Given the description of an element on the screen output the (x, y) to click on. 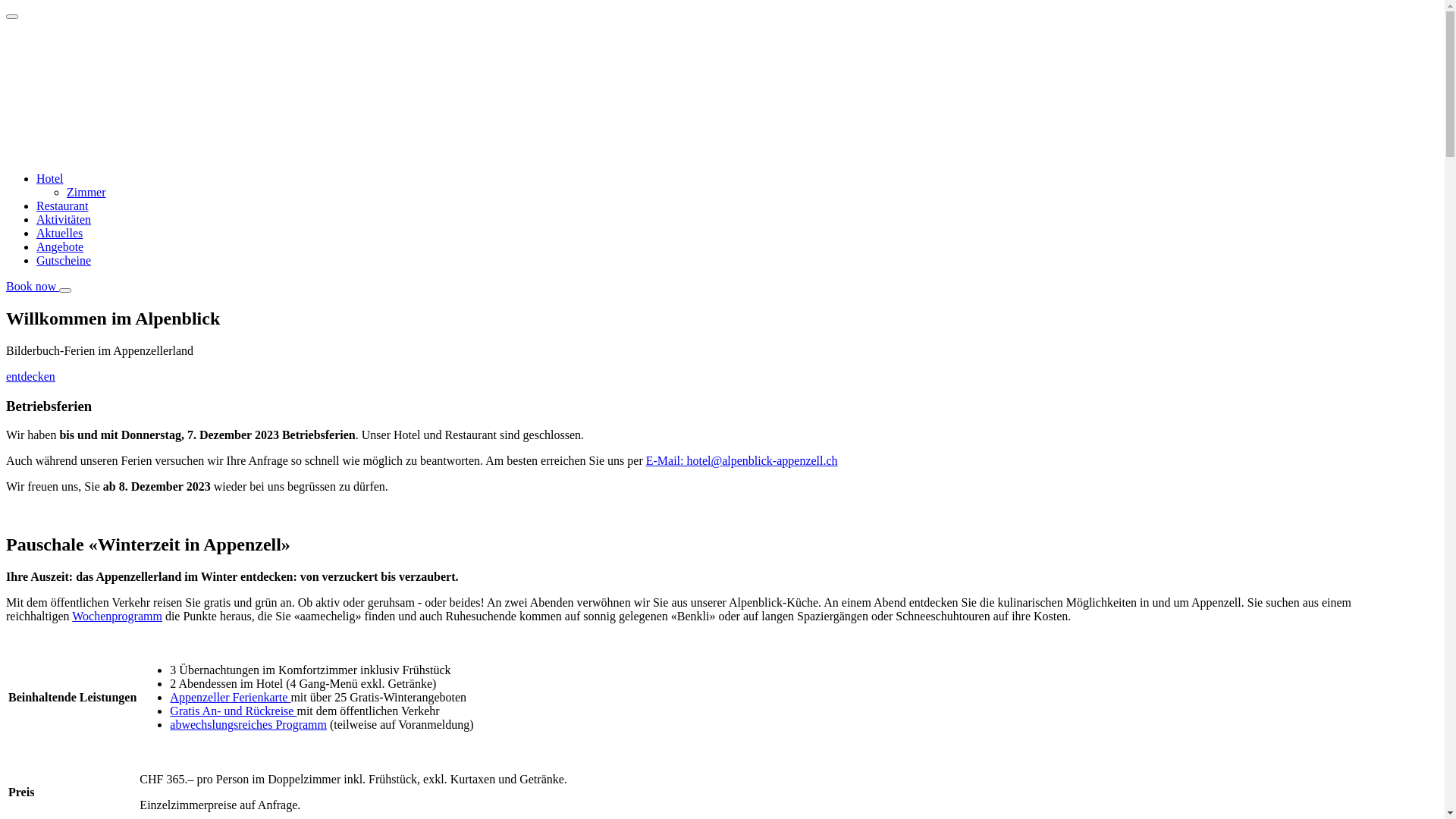
Hotel Element type: text (49, 178)
E-Mail: hotel@alpenblick-appenzell.ch Element type: text (741, 460)
Angebote Element type: text (59, 246)
abwechslungsreiches Programm Element type: text (247, 724)
Restaurant Element type: text (61, 205)
Gutscheine Element type: text (63, 260)
Aktuelles Element type: text (59, 232)
Zimmer Element type: text (86, 191)
Home Element type: hover (177, 152)
Book now Element type: text (32, 285)
entdecken Element type: text (30, 376)
Appenzeller Ferienkarte  Element type: text (229, 696)
Wochenprogramm Element type: text (117, 615)
